Given the description of an element on the screen output the (x, y) to click on. 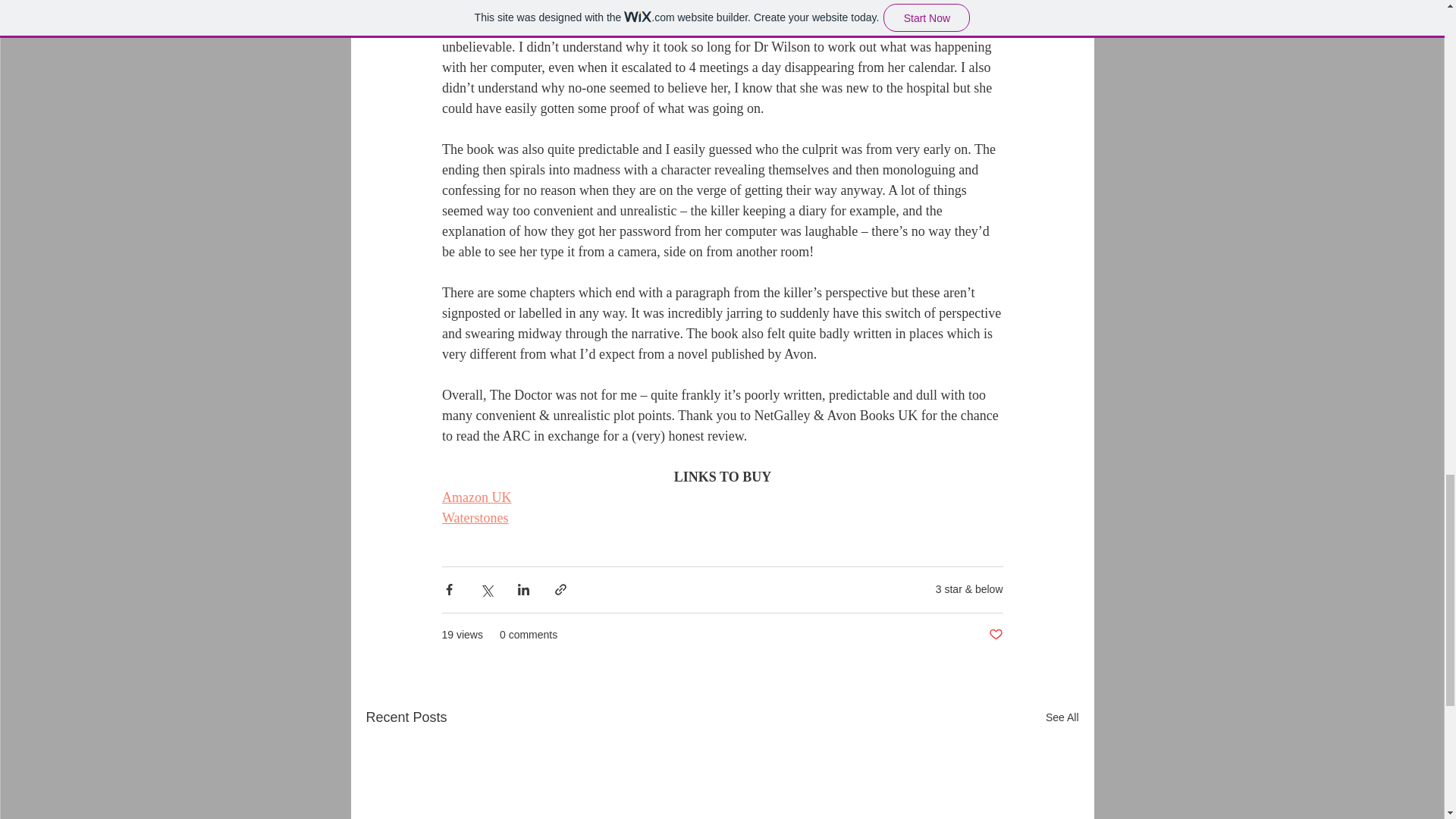
See All (1061, 717)
Amazon UK (476, 497)
Waterstones (474, 517)
Post not marked as liked (995, 634)
